Given the description of an element on the screen output the (x, y) to click on. 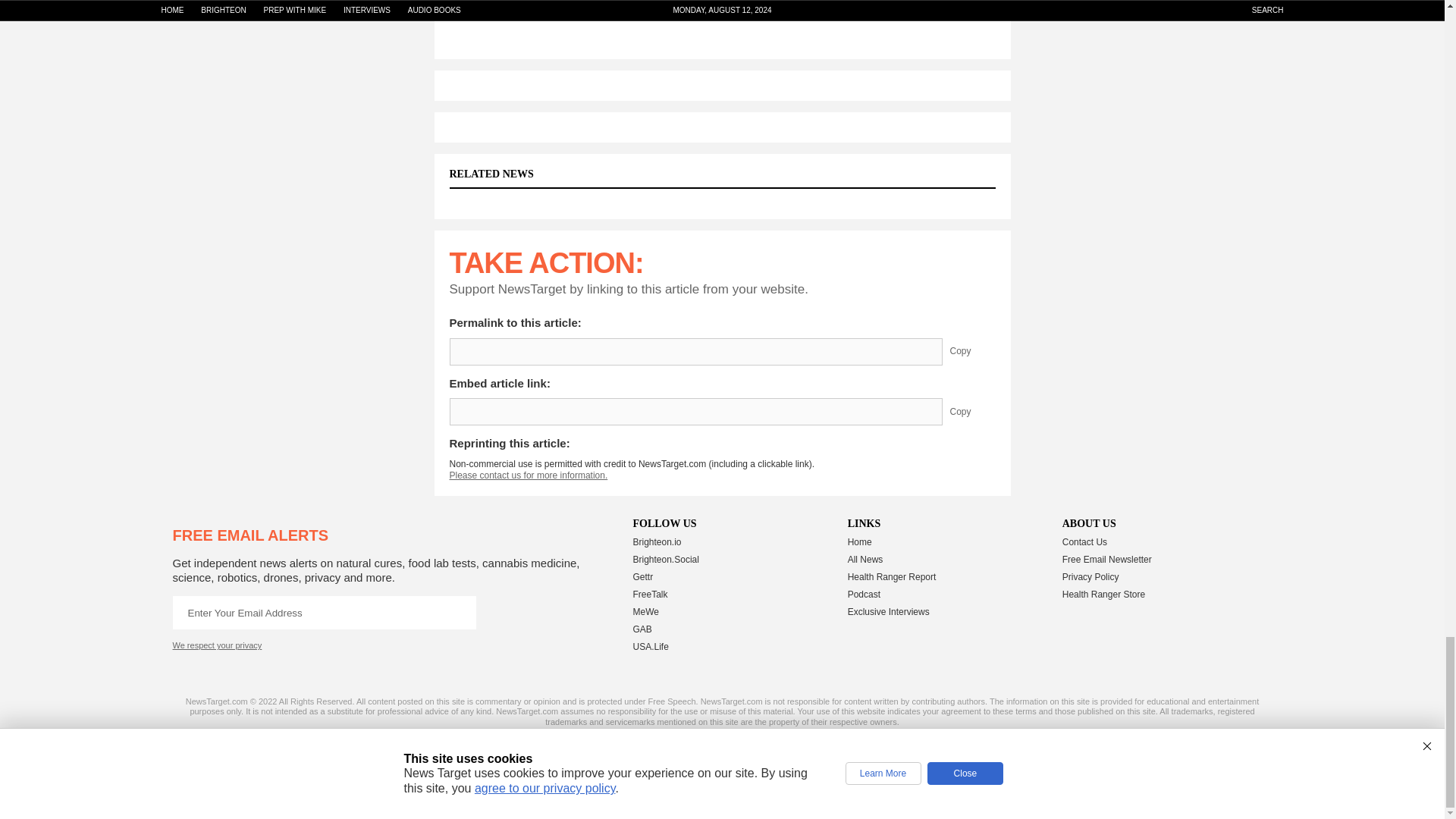
Copy Embed Link (971, 411)
Continue (459, 612)
Copy Permalink (971, 351)
